Given the description of an element on the screen output the (x, y) to click on. 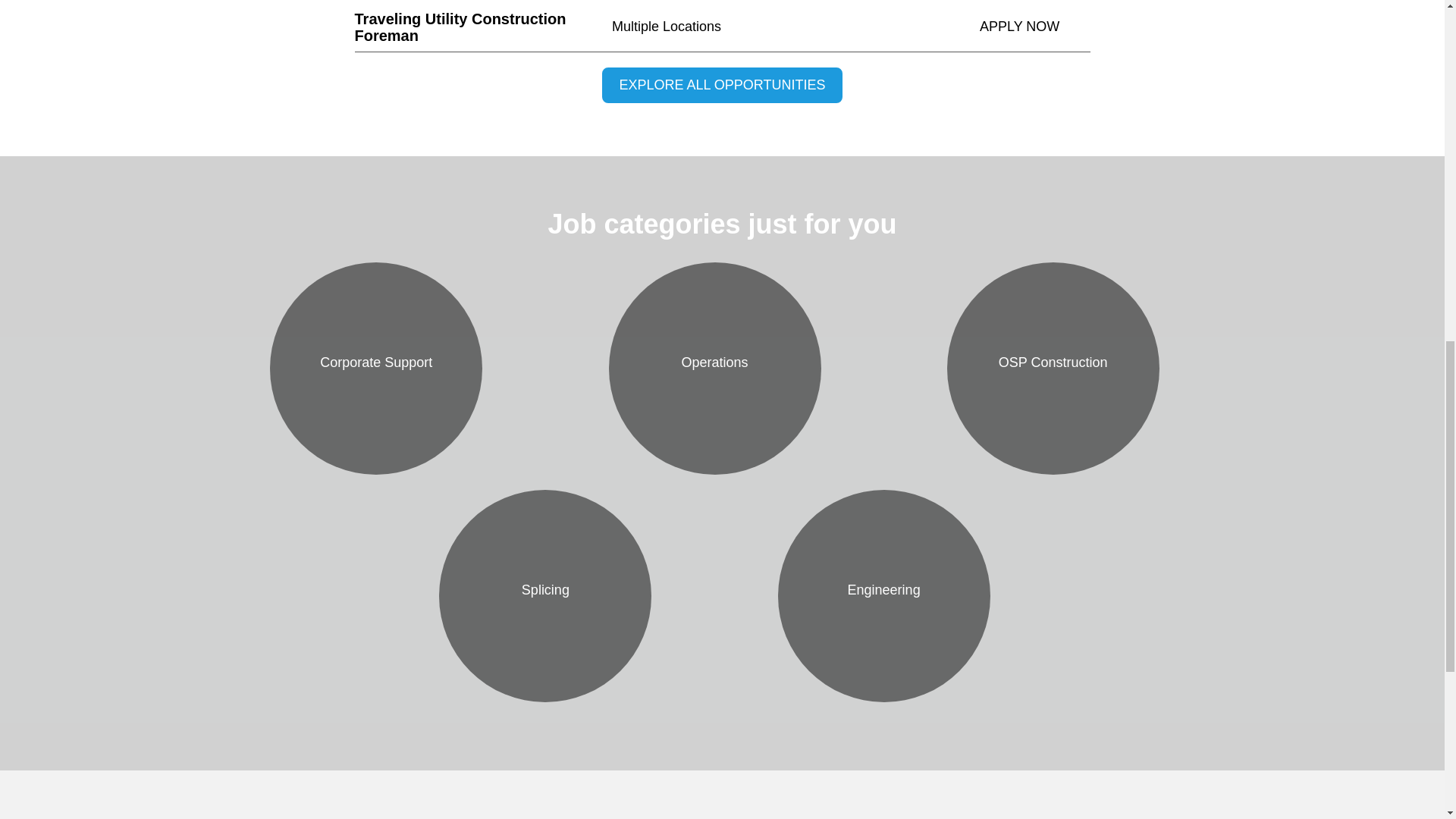
Traveling Utility Construction Foreman (483, 27)
APPLY NOW (1034, 27)
EXPLORE ALL OPPORTUNITIES (721, 85)
